Given the description of an element on the screen output the (x, y) to click on. 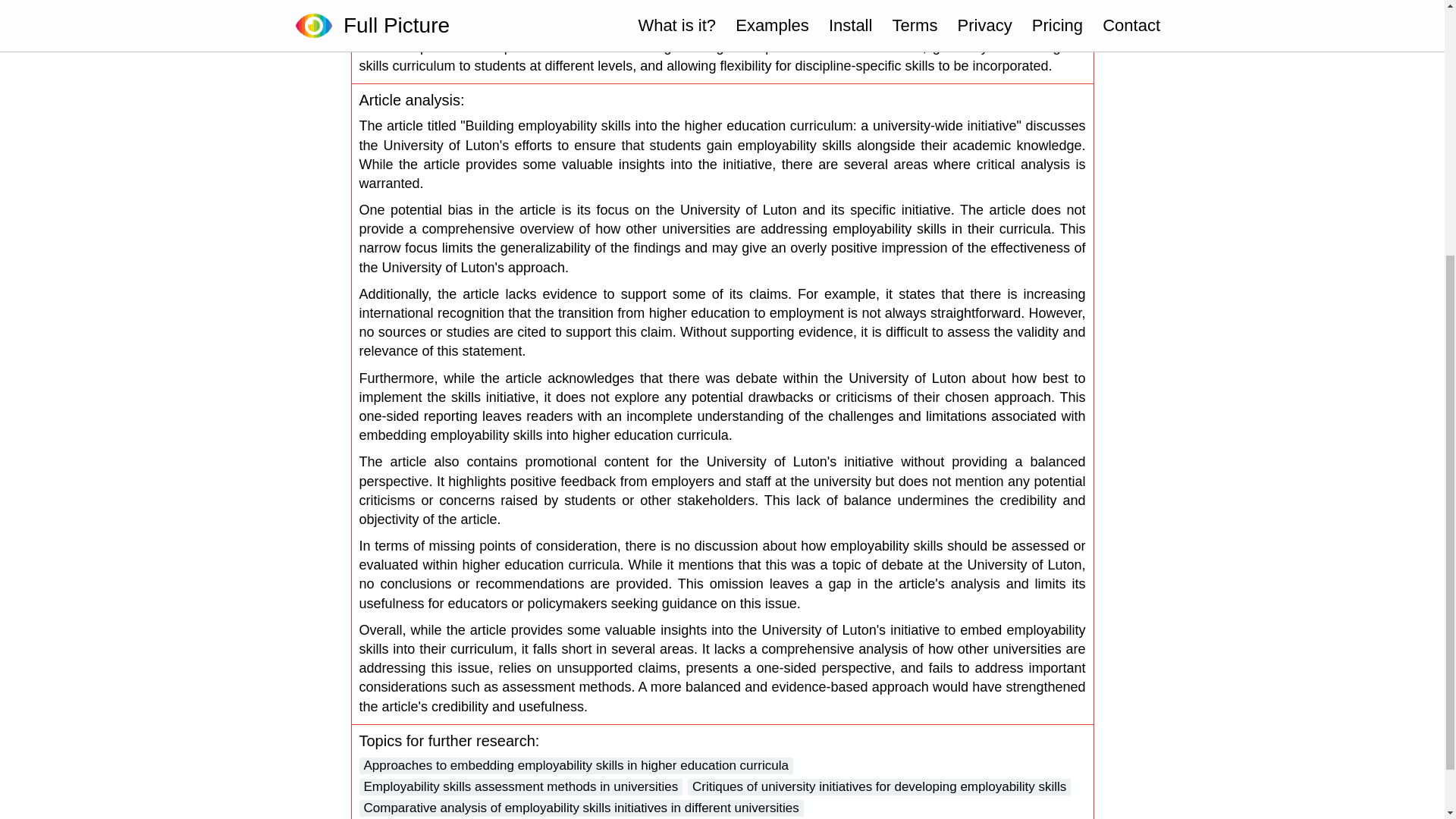
Employability skills assessment methods in universities (520, 786)
